Given the description of an element on the screen output the (x, y) to click on. 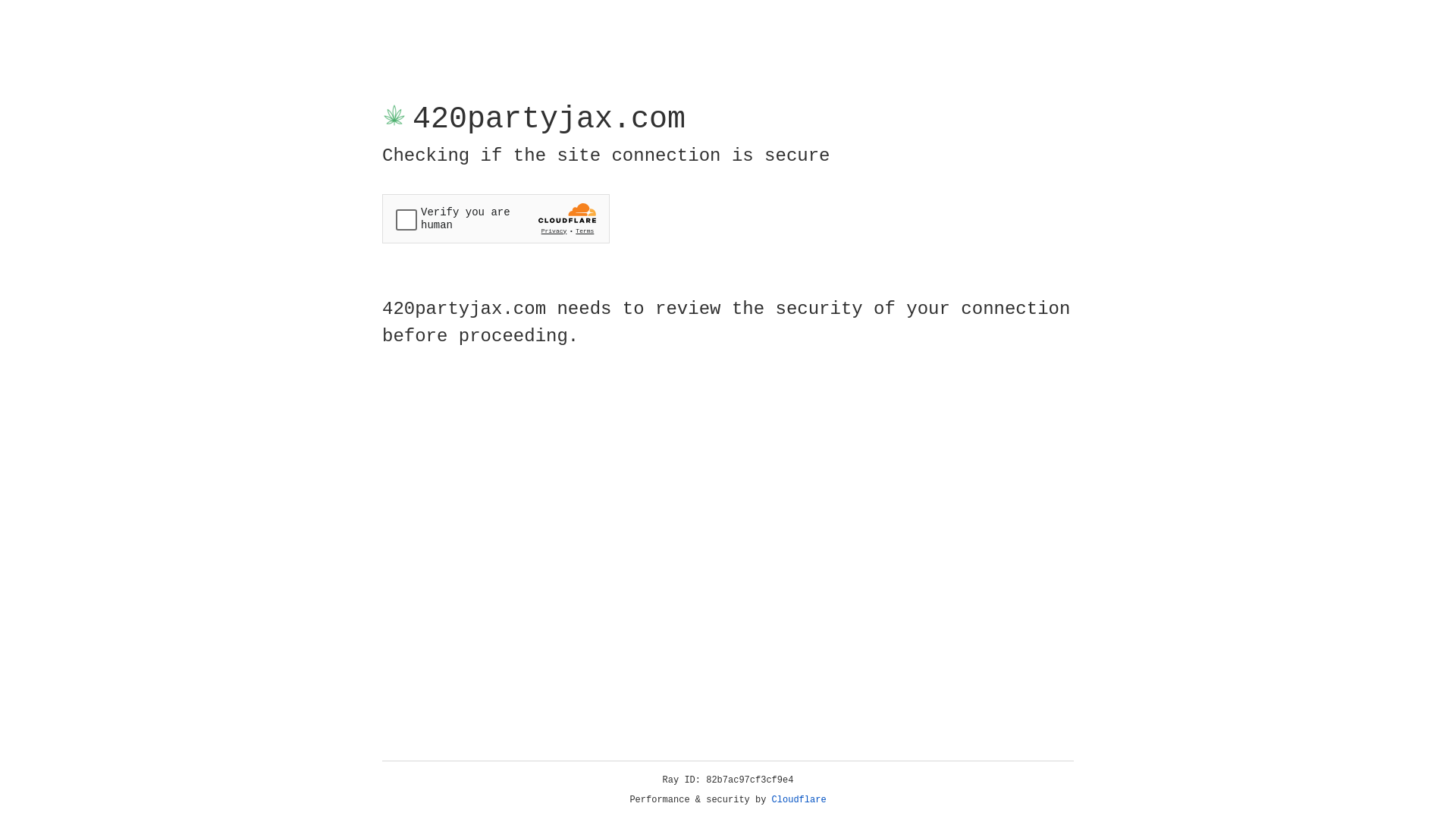
Widget containing a Cloudflare security challenge Element type: hover (495, 218)
Cloudflare Element type: text (798, 799)
